Given the description of an element on the screen output the (x, y) to click on. 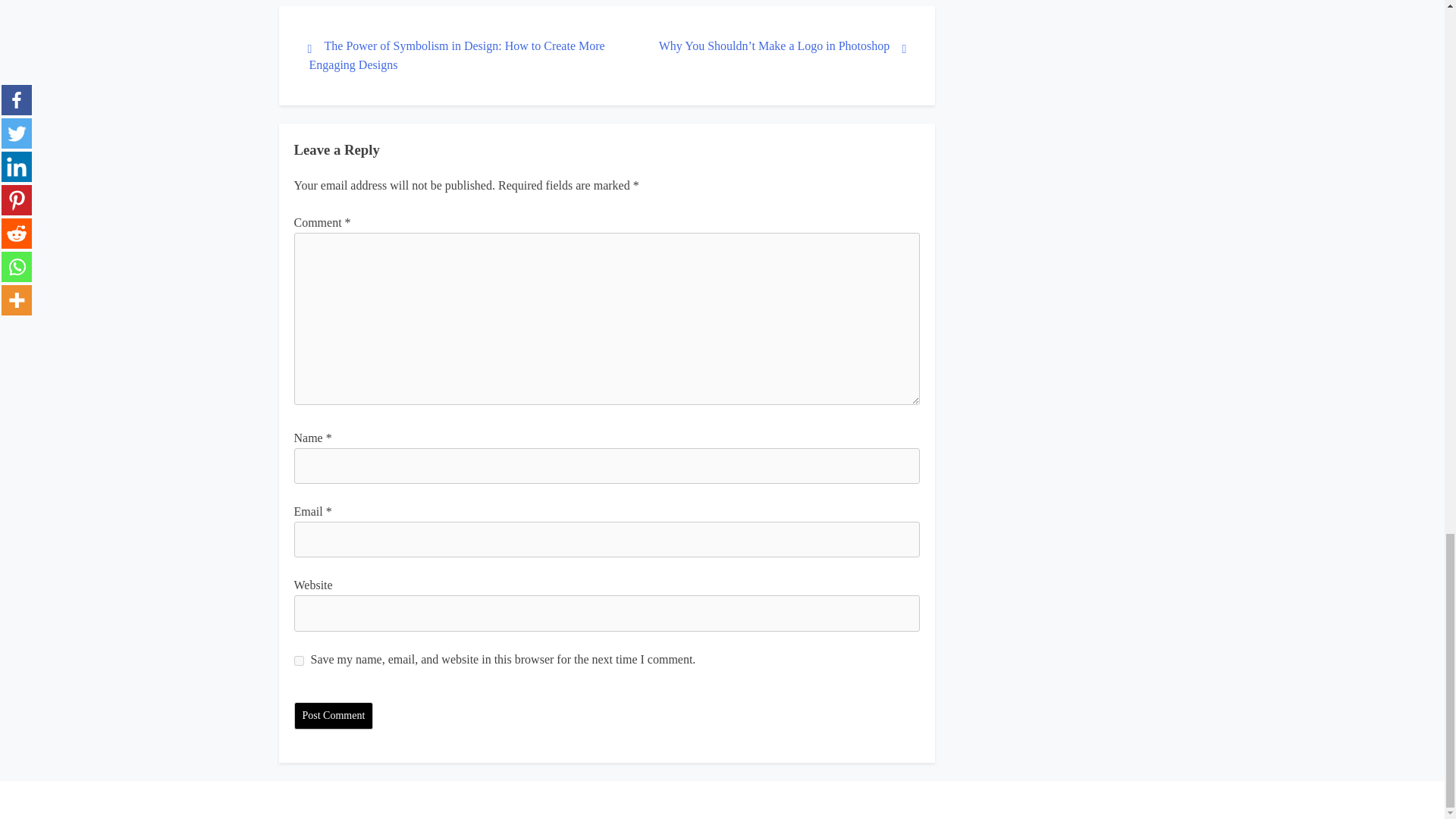
Post Comment (334, 715)
Post Comment (334, 715)
yes (299, 660)
